Given the description of an element on the screen output the (x, y) to click on. 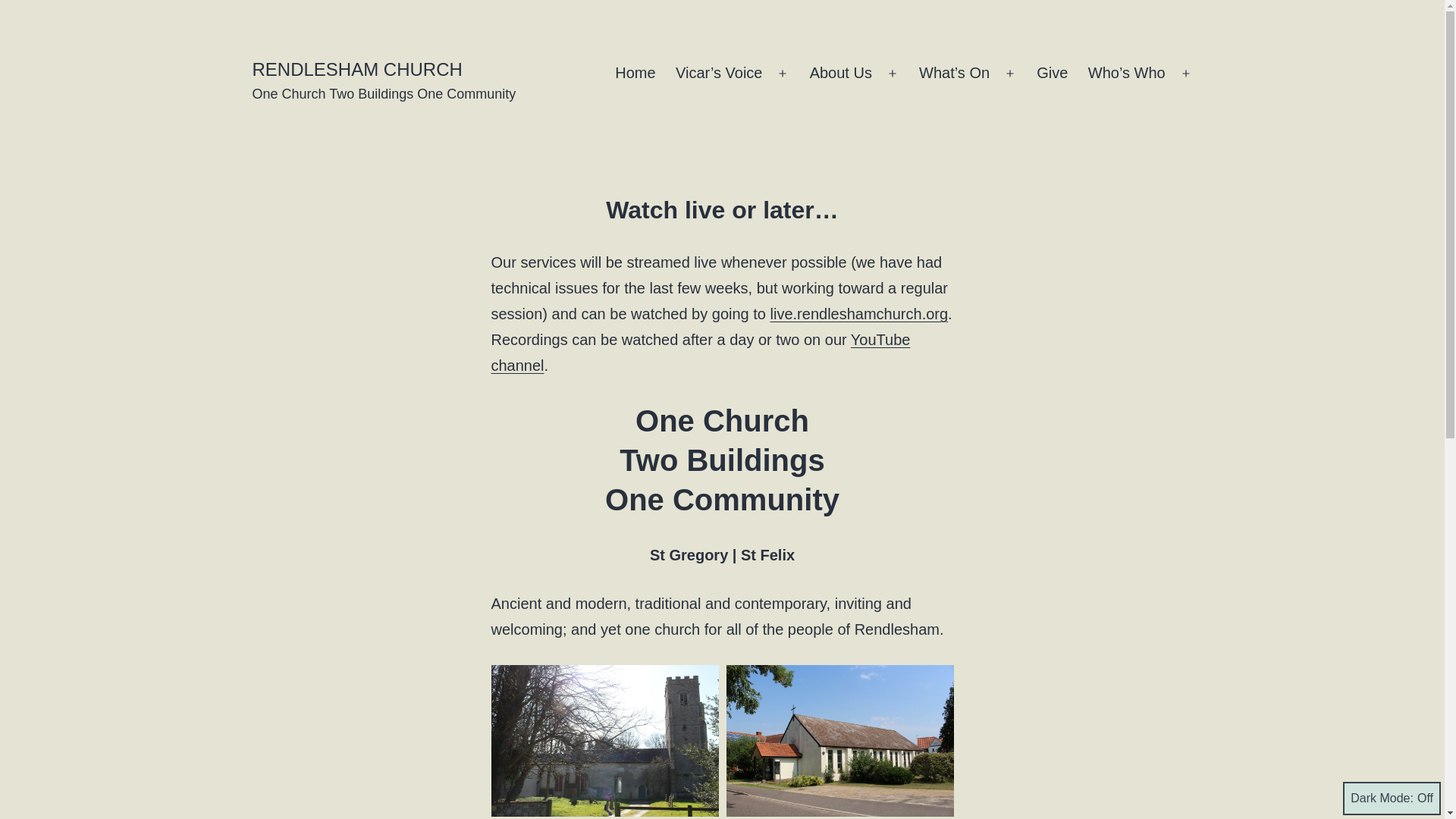
Home (635, 73)
Give (1052, 73)
Dark Mode: (1391, 798)
live.rendleshamchurch.org (859, 313)
YouTube channel (701, 352)
About Us (840, 73)
